Given the description of an element on the screen output the (x, y) to click on. 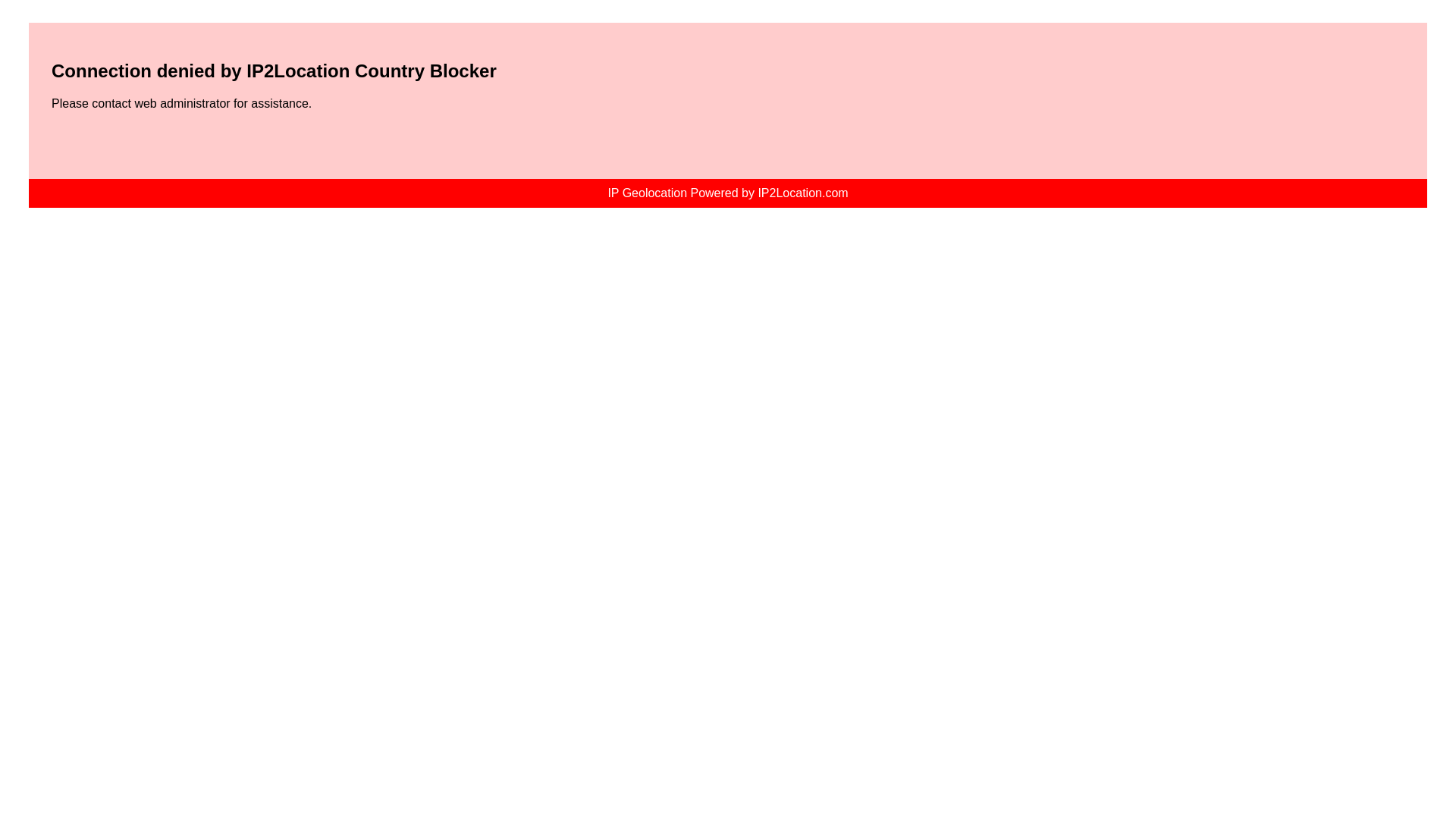
IP Geolocation Powered by IP2Location.com Element type: text (727, 192)
